Given the description of an element on the screen output the (x, y) to click on. 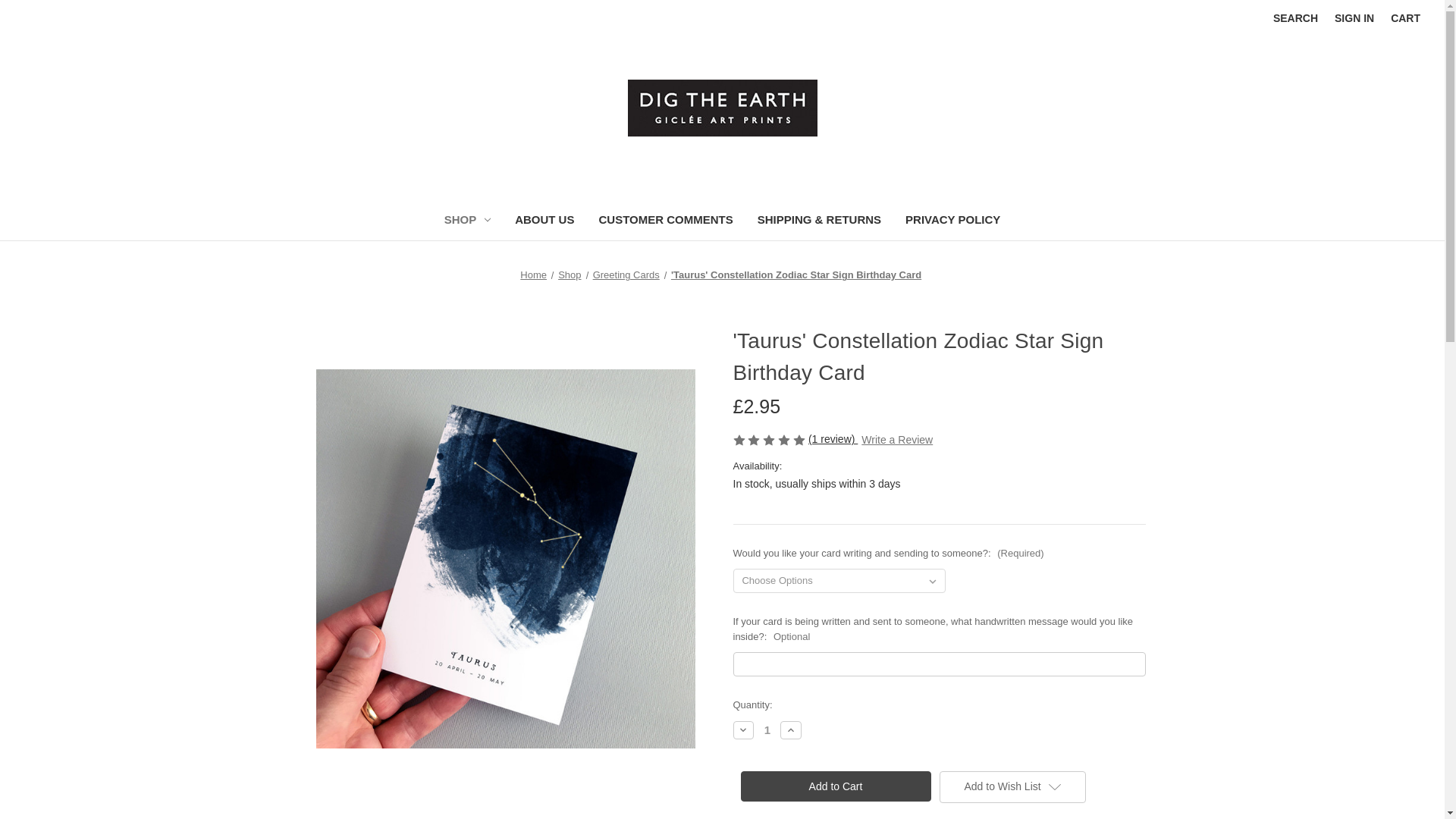
SIGN IN (1353, 18)
CART (1404, 18)
CUSTOMER COMMENTS (665, 221)
Home (533, 274)
Add to Cart (834, 786)
Dig The Earth (721, 107)
ABOUT US (544, 221)
'Taurus' Constellation Zodiac Star Sign Birthday Card (796, 274)
Greeting Cards (625, 274)
1 (767, 729)
SHOP (467, 221)
PRIVACY POLICY (952, 221)
Write a Review (897, 439)
SEARCH (1295, 18)
